Given the description of an element on the screen output the (x, y) to click on. 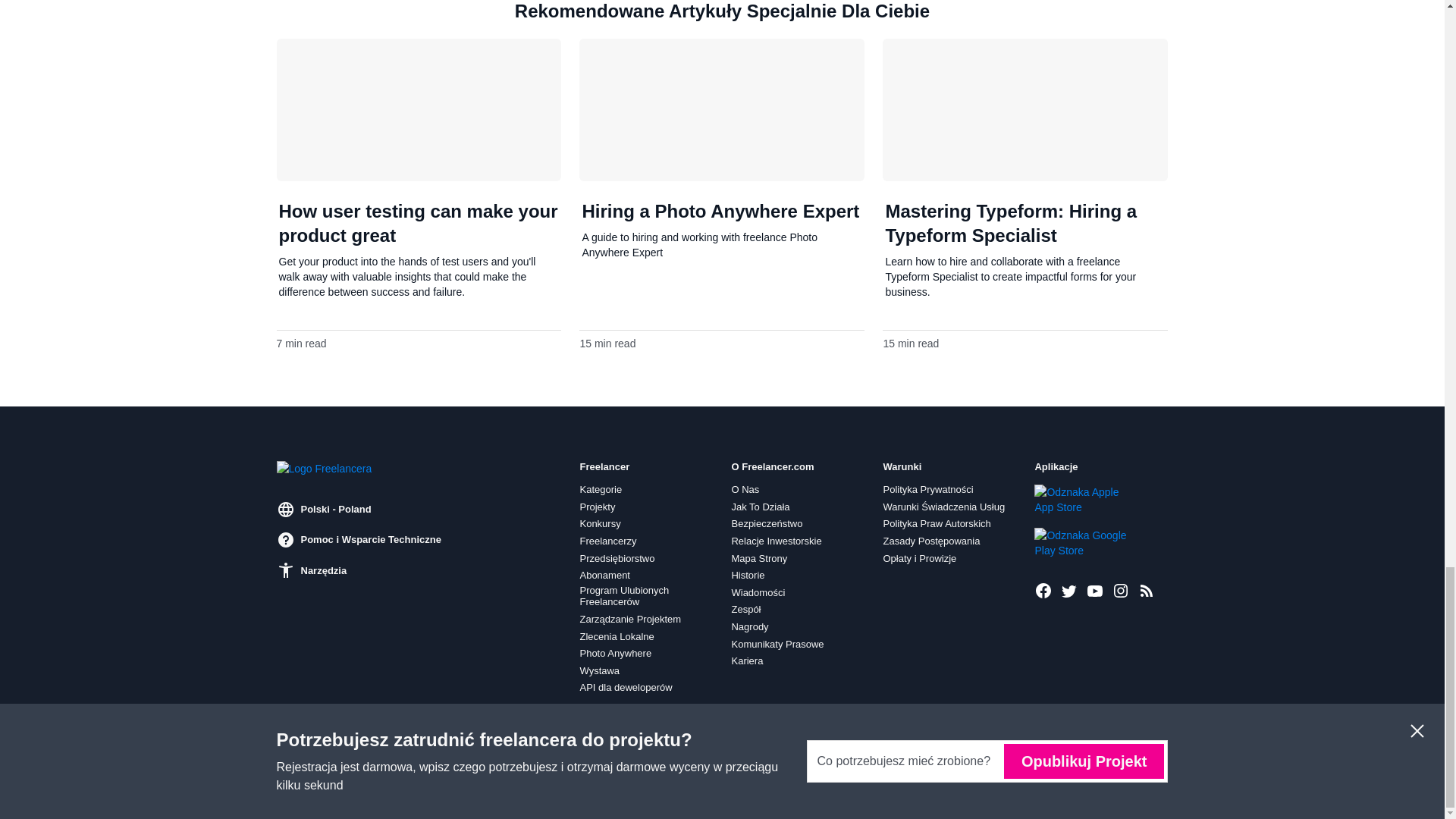
Freelancer na Instagramie (1120, 590)
Ostatnie Projekty (1146, 590)
Pobierz z Google play (1085, 542)
Pobierz z App Store (1085, 499)
Freelancer.com na Facebooku (1042, 590)
Freelancer.com na Twitterze (1068, 590)
Freelancer.com na Youtube (1094, 590)
